Given the description of an element on the screen output the (x, y) to click on. 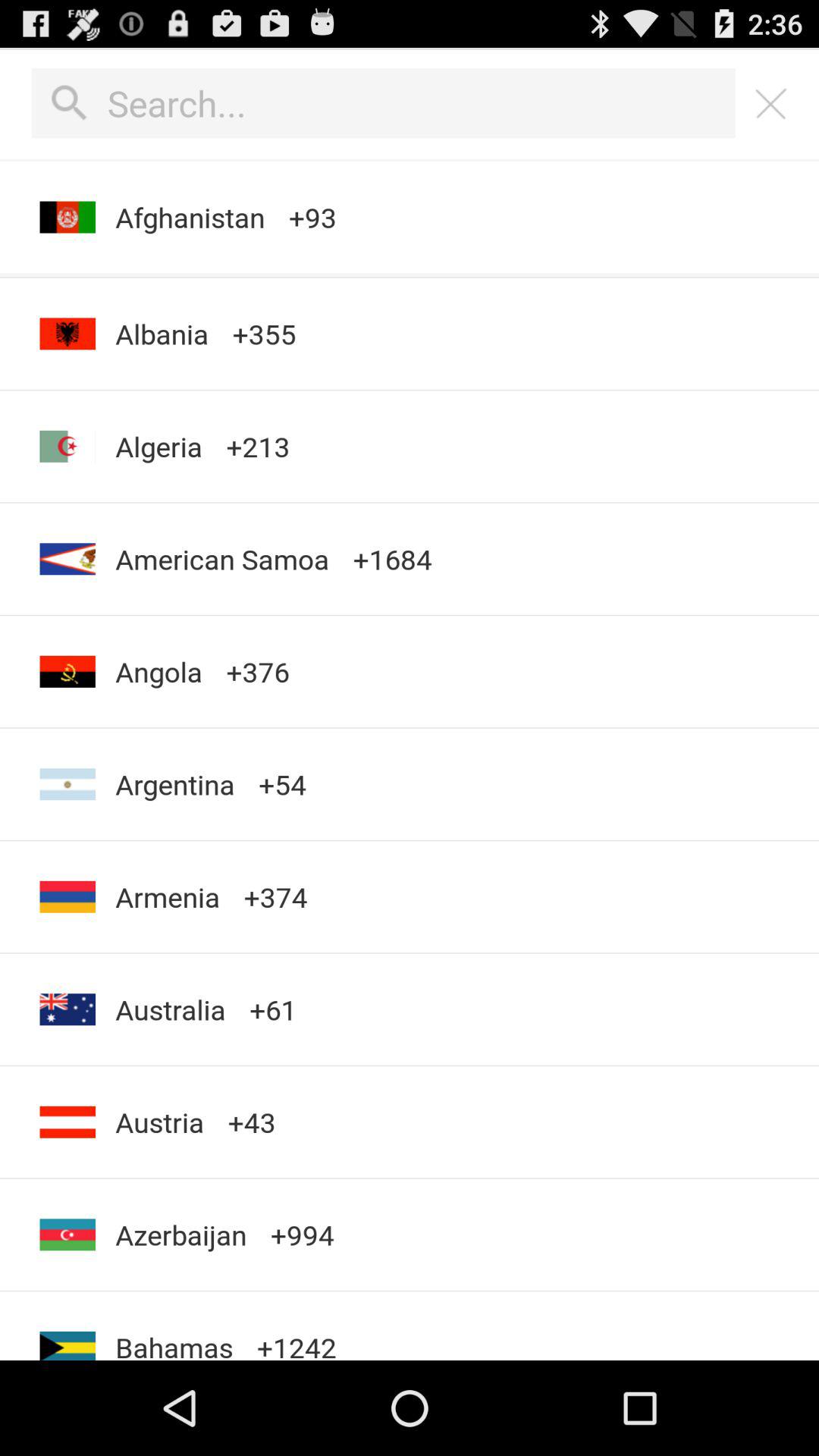
turn off app above +374 app (282, 784)
